Given the description of an element on the screen output the (x, y) to click on. 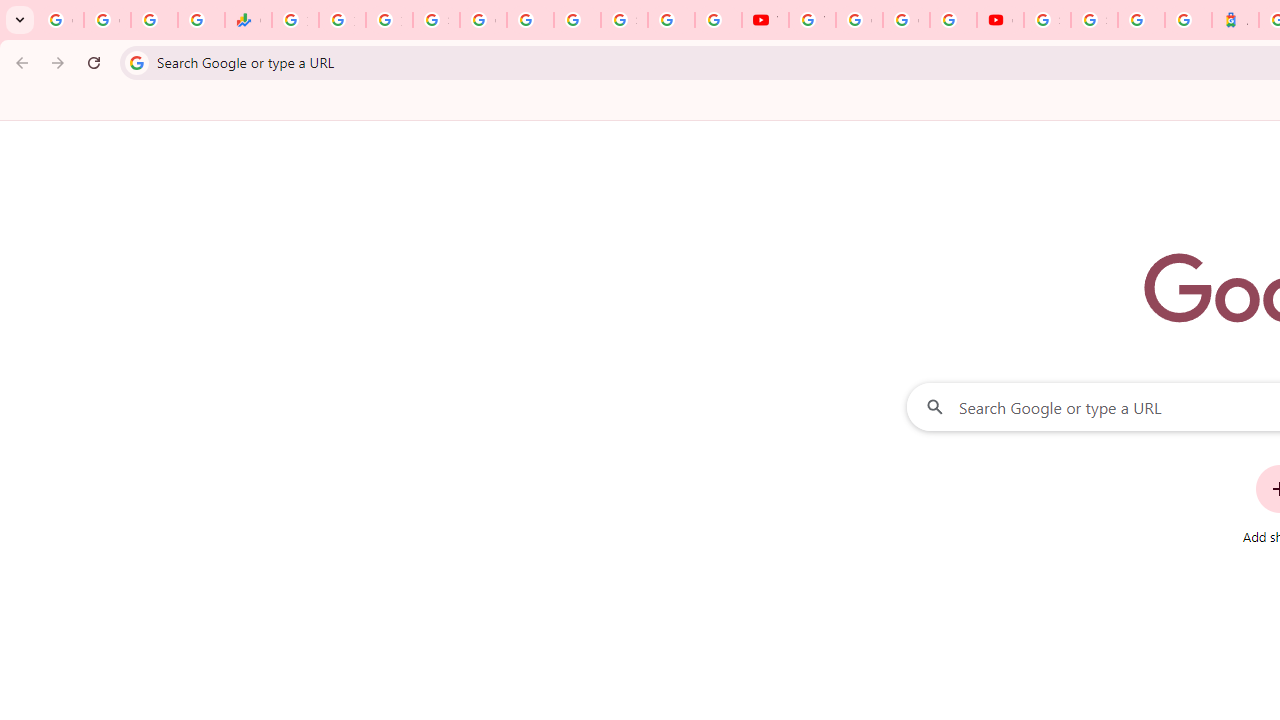
Privacy Checkup (718, 20)
Create your Google Account (906, 20)
